Given the description of an element on the screen output the (x, y) to click on. 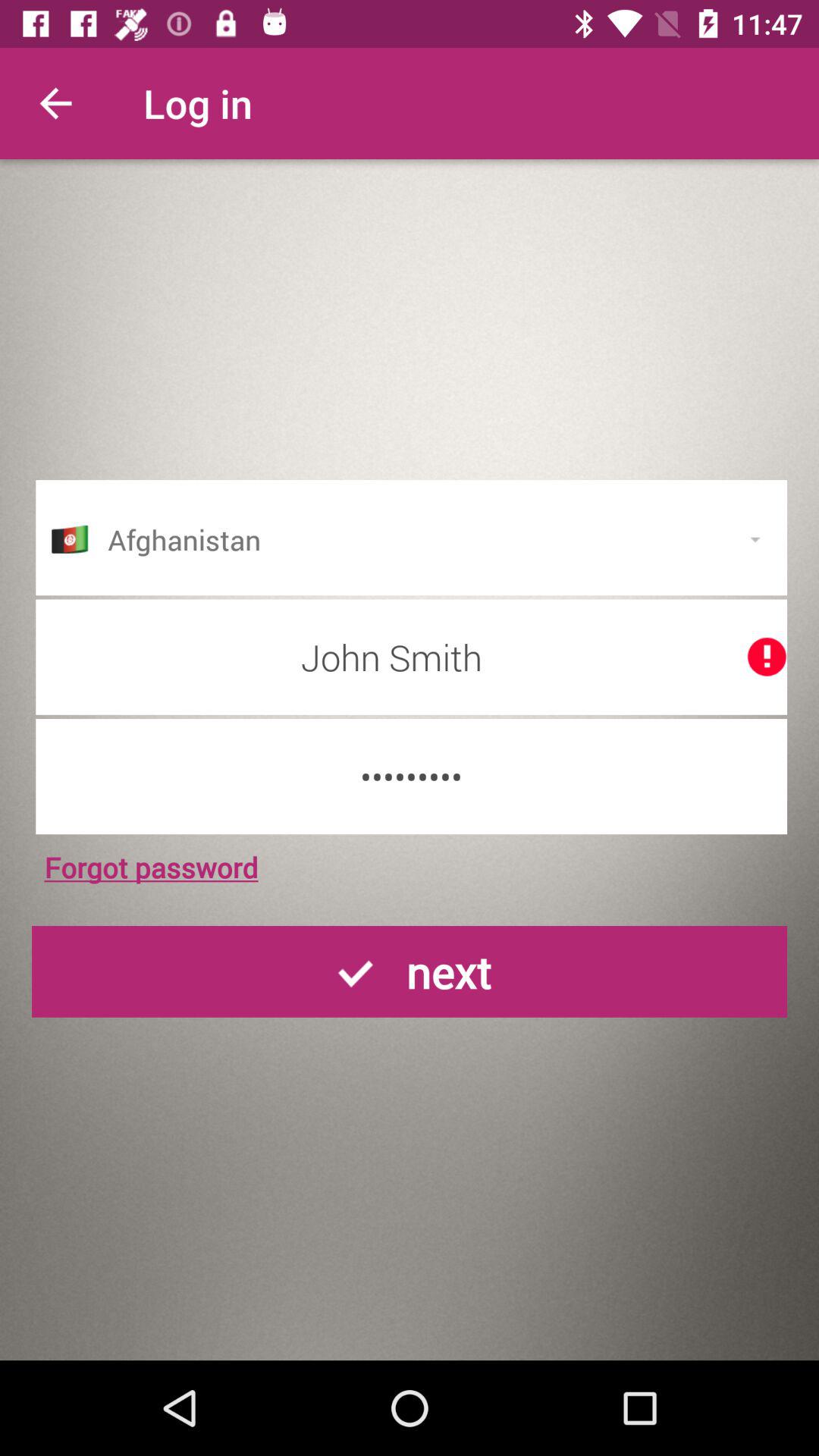
choose the crowd3116 (411, 776)
